Given the description of an element on the screen output the (x, y) to click on. 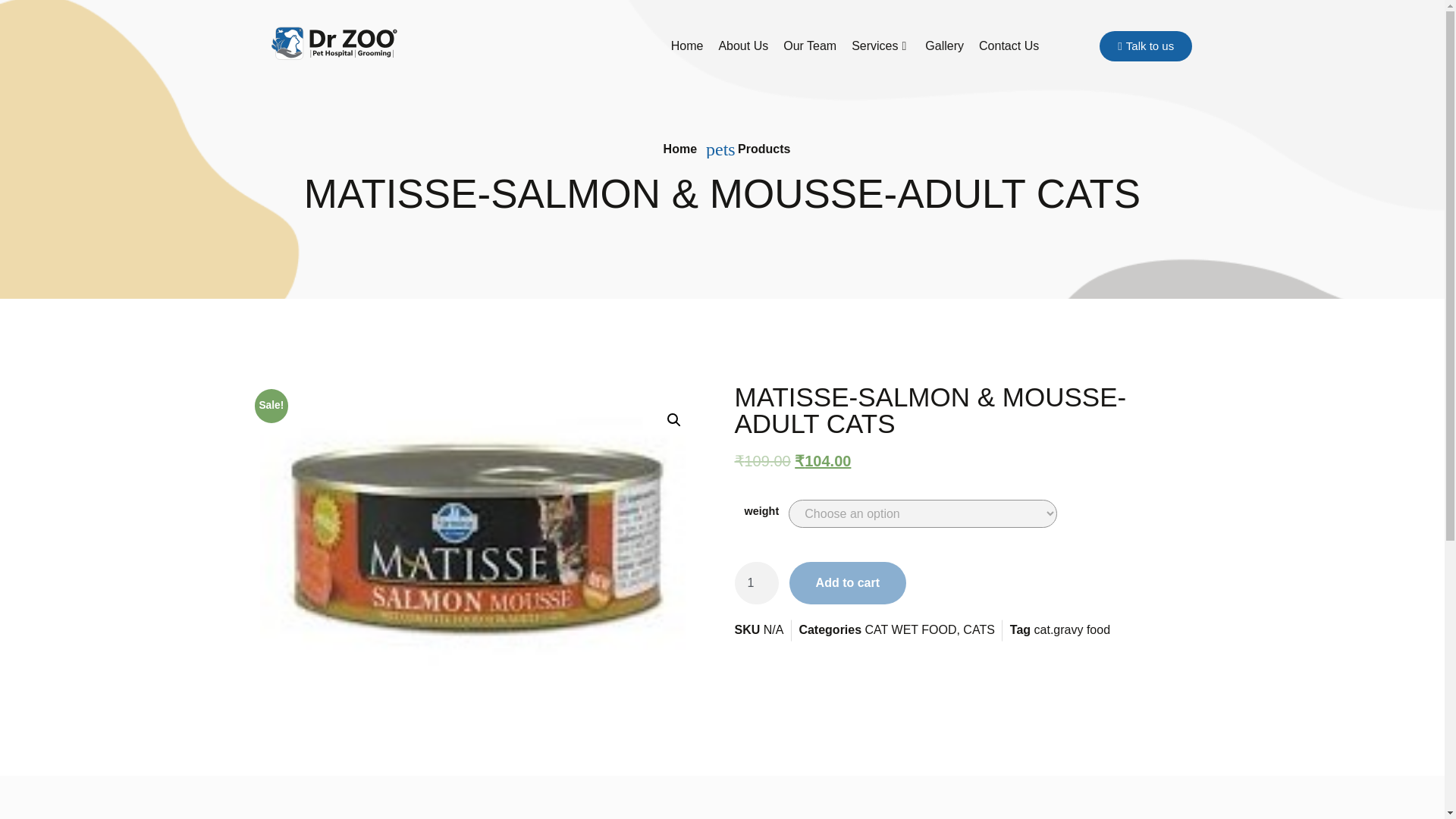
Qty (755, 582)
Contact Us (1008, 44)
Services (880, 44)
1 (755, 582)
salmon (478, 536)
Our Team (810, 44)
Gallery (944, 44)
About Us (743, 44)
Home (687, 44)
